Given the description of an element on the screen output the (x, y) to click on. 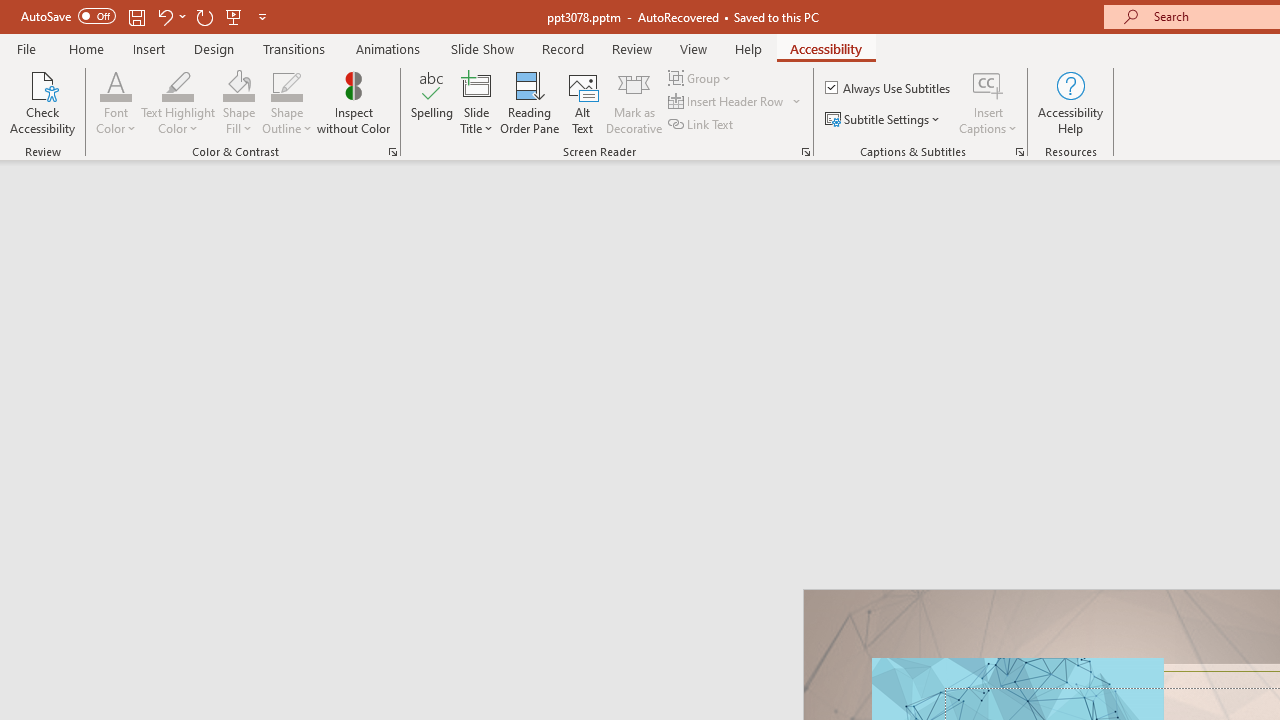
Accessibility Help (1070, 102)
Inspect without Color (353, 102)
Check Accessibility (42, 102)
Alt Text (582, 102)
